Given the description of an element on the screen output the (x, y) to click on. 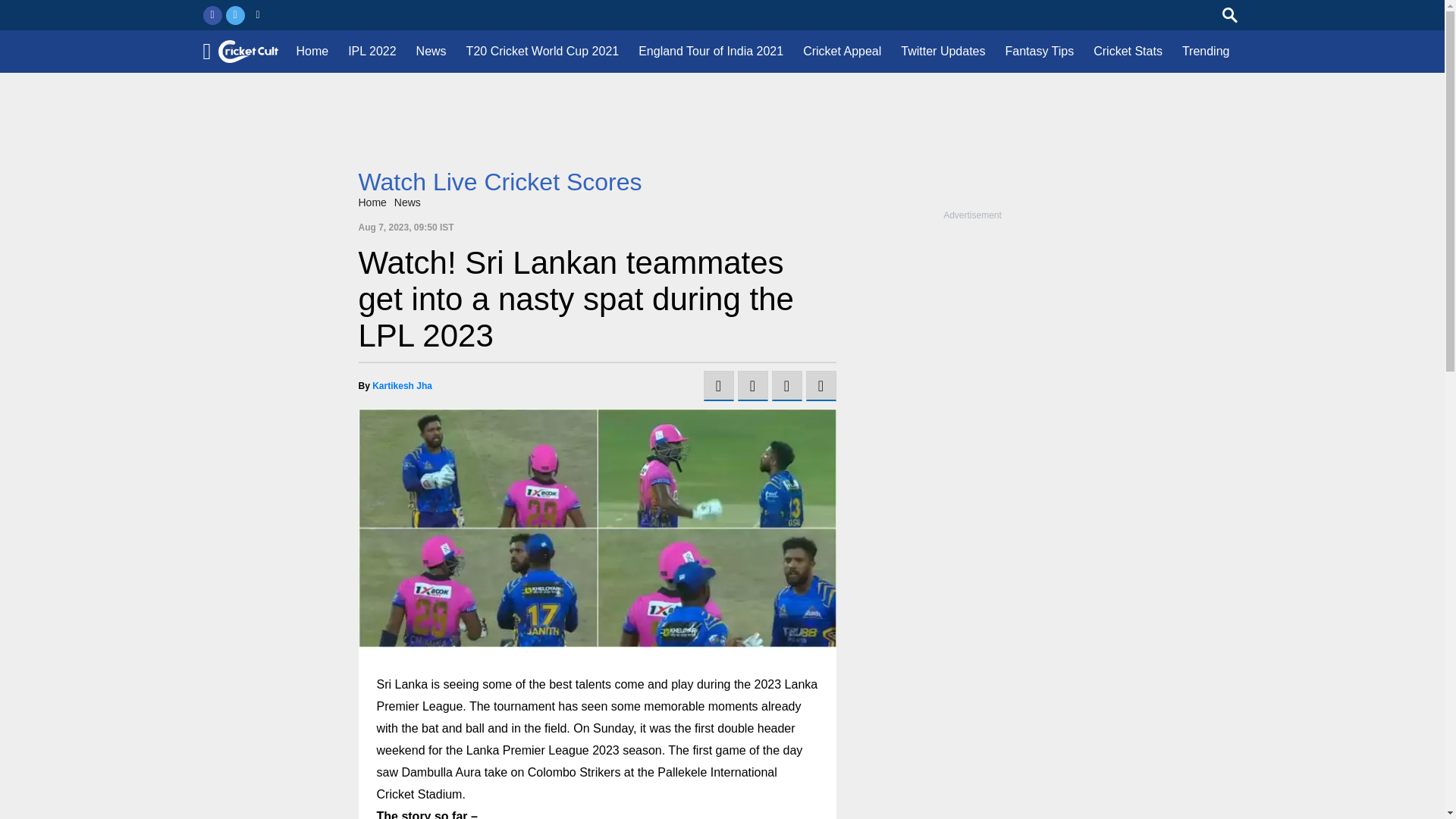
Twitter (234, 15)
3rd party ad content (722, 176)
Facebook (212, 15)
Instagram (257, 15)
Twitter Updates (942, 51)
Rechercher (1229, 15)
Watch Live Cricket Scores (500, 181)
Cricket Stats (1127, 51)
England Tour of India 2021 (710, 51)
Rechercher (1229, 15)
